Given the description of an element on the screen output the (x, y) to click on. 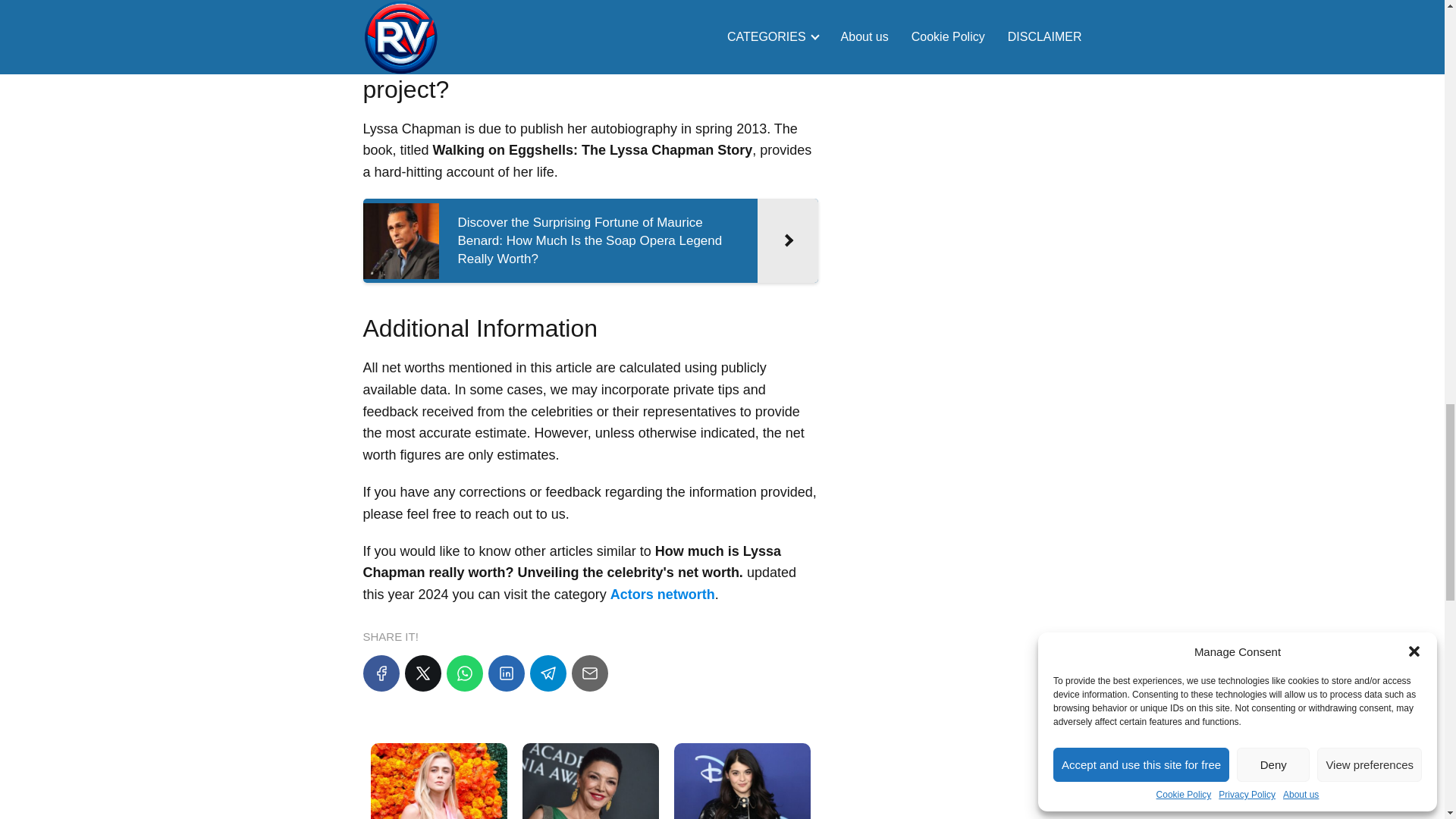
Telegram (547, 673)
LinkedIn (505, 673)
X (422, 673)
Facebook (380, 673)
WhatsApp (463, 673)
